Given the description of an element on the screen output the (x, y) to click on. 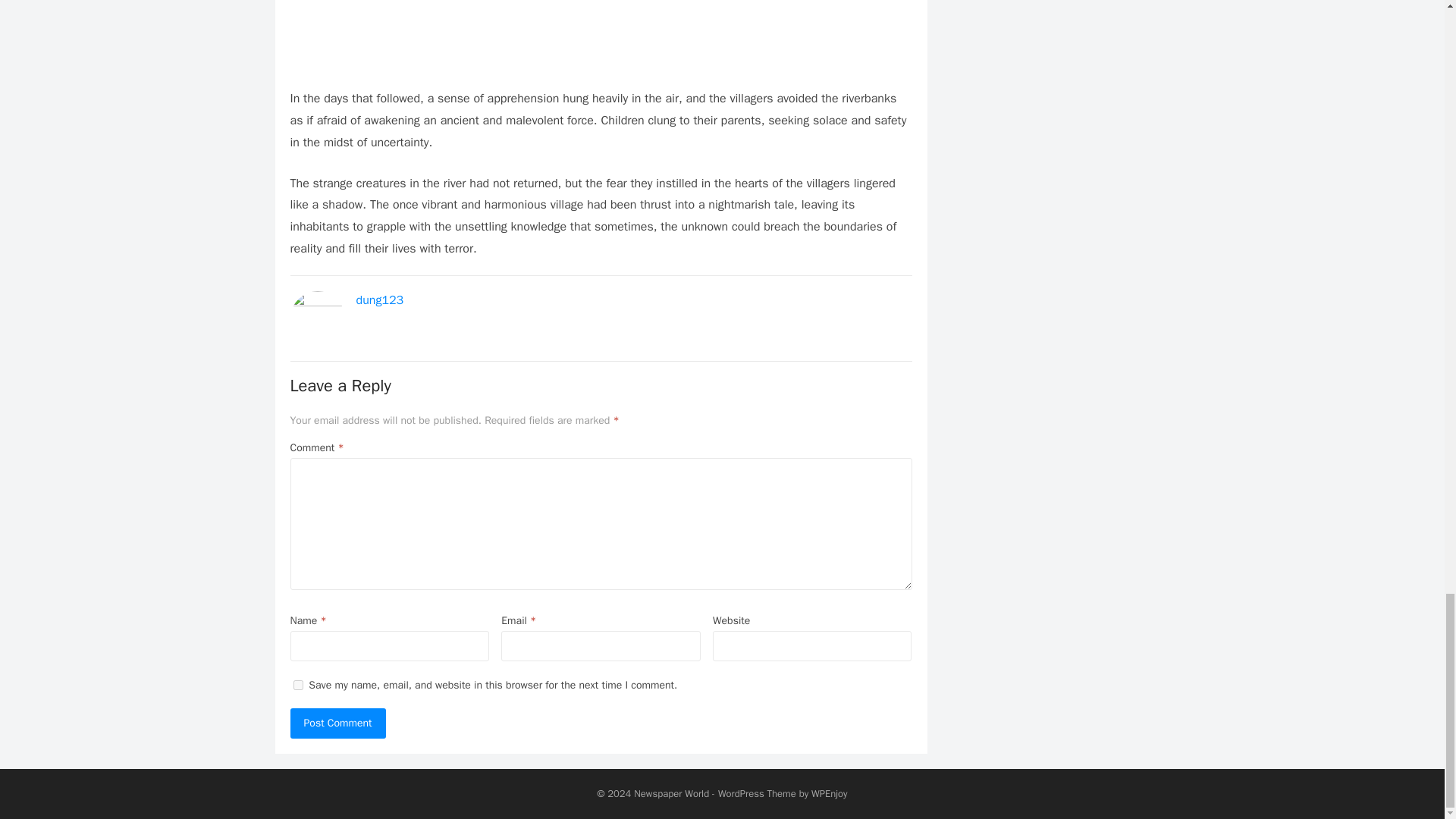
yes (297, 685)
BIZARRA CRIATURA FLAGRADA POR TURISTAS (600, 21)
Post Comment (337, 723)
dung123 (380, 299)
Post Comment (337, 723)
